Given the description of an element on the screen output the (x, y) to click on. 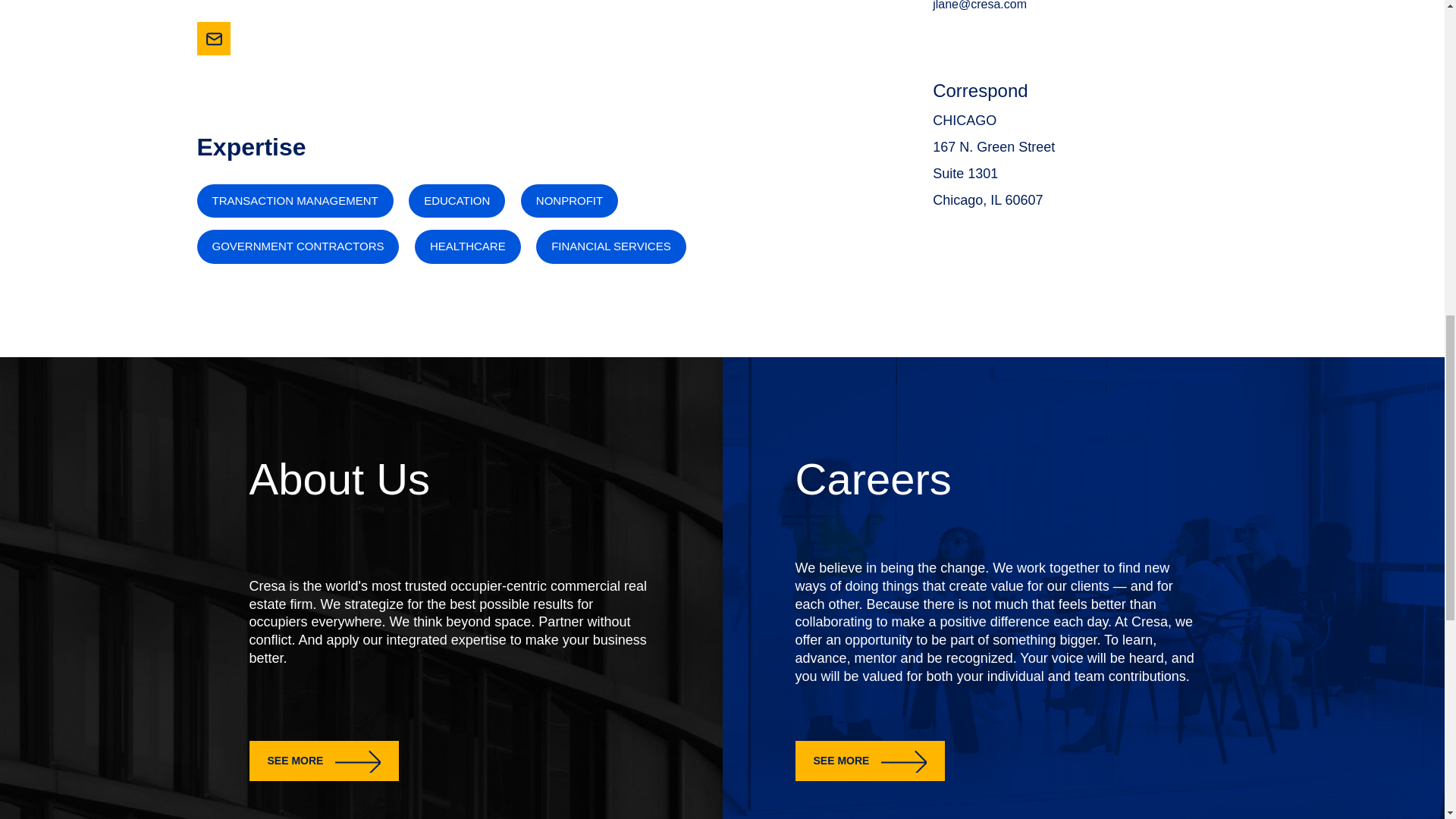
Email (213, 38)
